Given the description of an element on the screen output the (x, y) to click on. 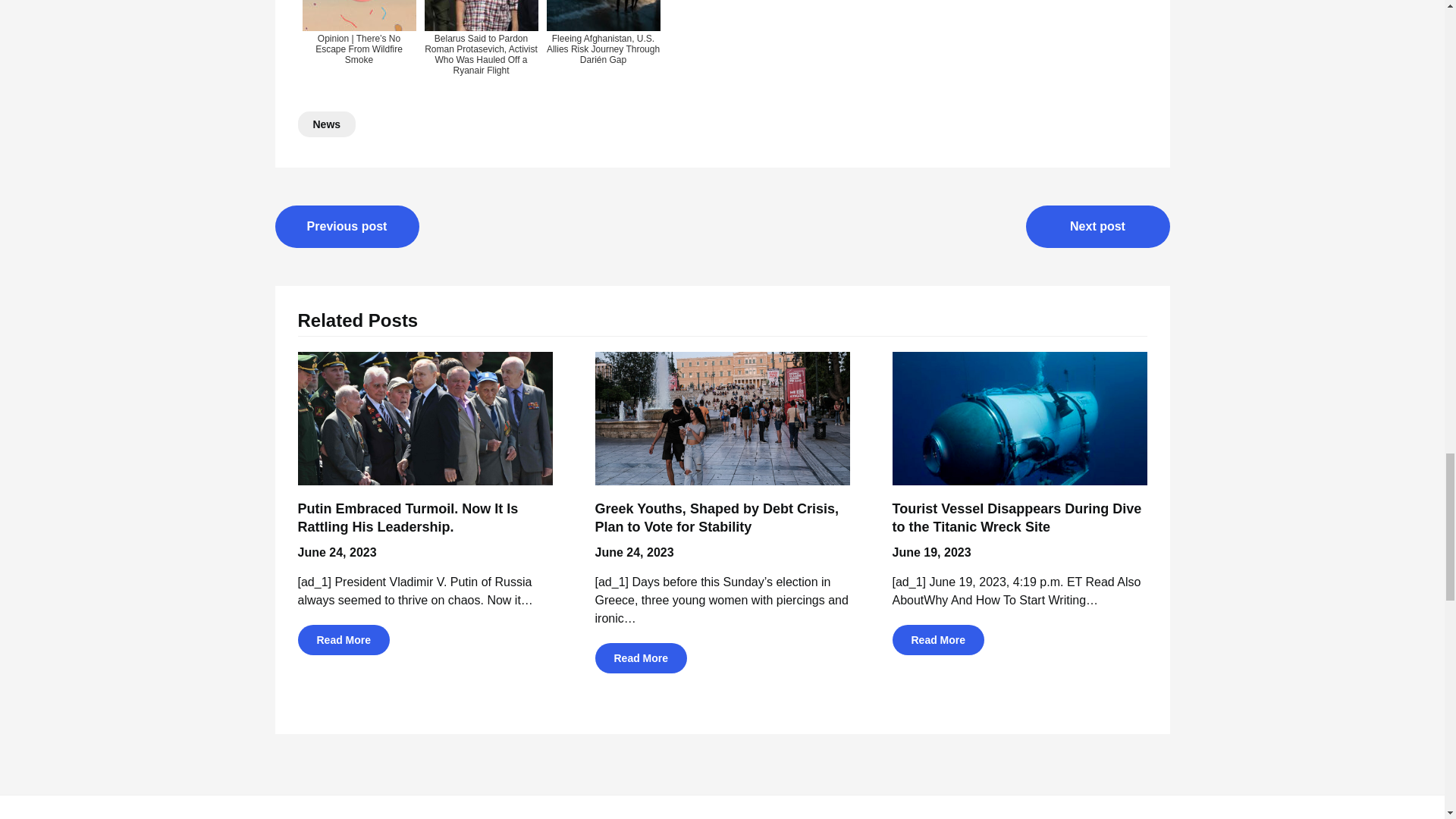
News (326, 124)
Previous post (347, 226)
